Given the description of an element on the screen output the (x, y) to click on. 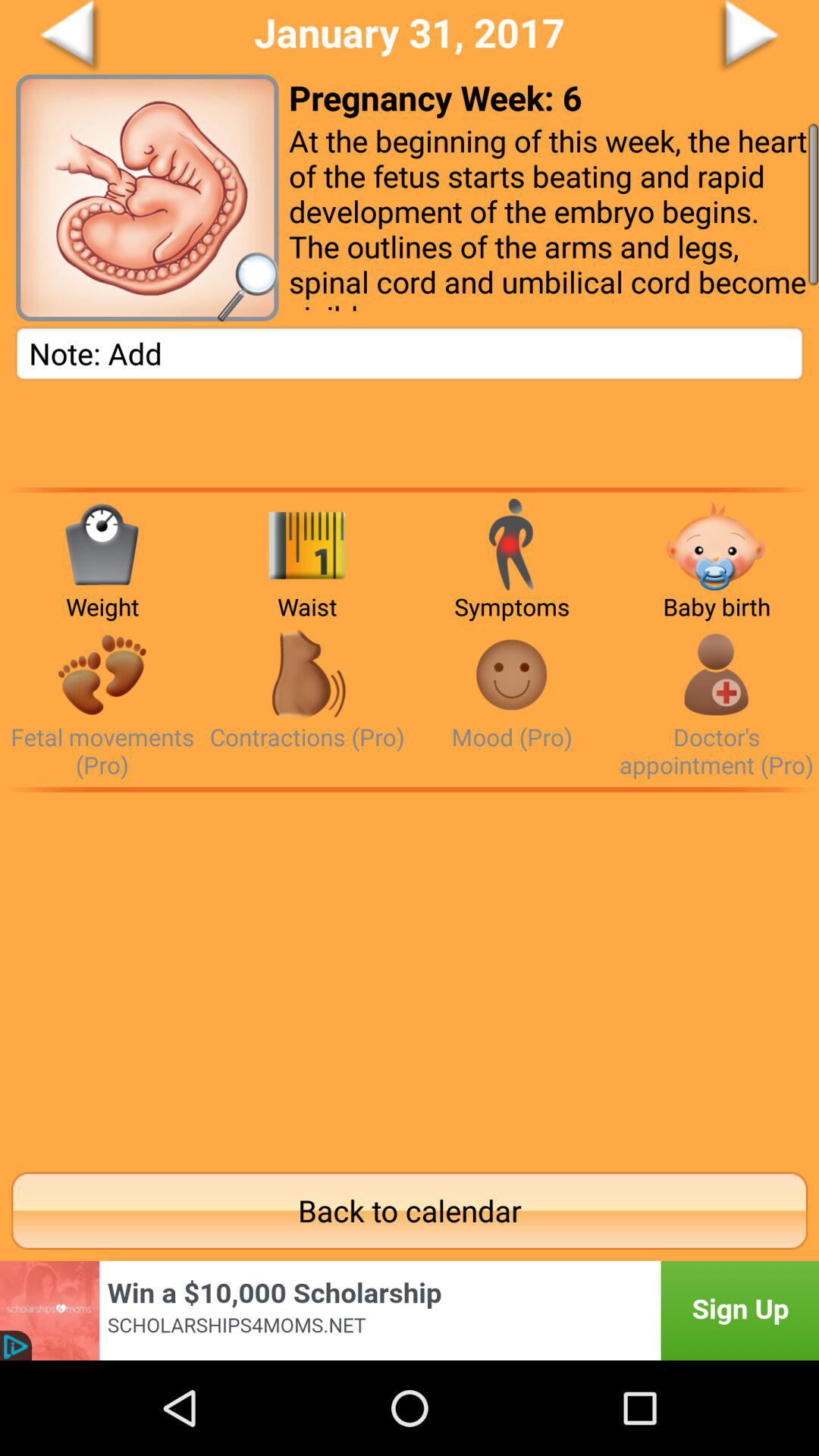
advertising (409, 1310)
